Given the description of an element on the screen output the (x, y) to click on. 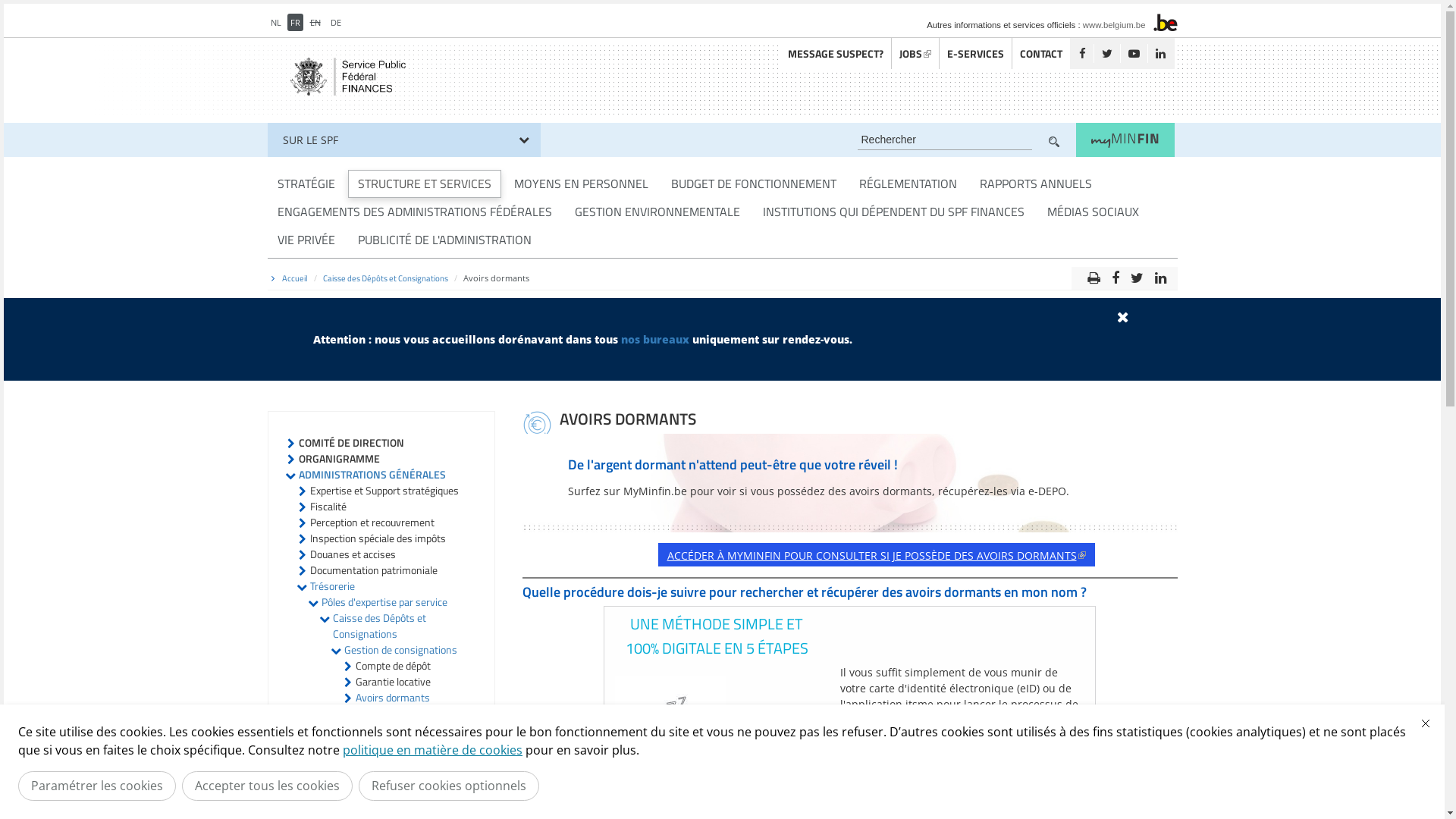
BUDGET DE FONCTIONNEMENT Element type: text (753, 183)
myMINFIN Element type: text (1124, 139)
EN
(PAS ENCORE DISPONIBLE) Element type: text (315, 21)
Douanes et accises Element type: text (352, 553)
CONTACT Element type: text (1040, 53)
Avoirs dormants Element type: text (391, 697)
Aller au contenu principal Element type: text (69, 3)
Documentation patrimoniale Element type: text (372, 569)
Accueil Element type: text (294, 278)
www.belgium.be Element type: text (1113, 24)
YouTube Element type: text (1132, 52)
GESTION ENVIRONNEMENTALE Element type: text (656, 211)
Fermer Element type: hover (1425, 723)
nos bureaux Element type: text (654, 339)
MESSAGE SUSPECT? Element type: text (834, 53)
linkedin Element type: hover (1160, 274)
facebook Element type: hover (1114, 274)
Perception et recouvrement Element type: text (371, 522)
Linkedin Element type: text (1159, 52)
E-SERVICES Element type: text (974, 53)
Gestion de consignations Element type: text (400, 649)
Caution Loi Breyne Element type: text (396, 729)
JOBS
(LINK IS EXTERNAL) Element type: text (914, 53)
Caution jeux de hasard Element type: text (404, 776)
Facebook Element type: text (1081, 52)
FR Element type: text (294, 22)
STRUCTURE ET SERVICES Element type: text (423, 183)
MOYENS EN PERSONNEL Element type: text (580, 183)
SUR LE SPF Element type: text (402, 139)
Garantie locative Element type: text (391, 681)
RAPPORTS ANNUELS Element type: text (1035, 183)
print Element type: hover (1092, 274)
twitter Element type: hover (1136, 274)
Twitter: Element type: text (1106, 52)
ORGANIGRAMME Element type: text (338, 458)
Refuser cookies optionnels Element type: text (448, 785)
Accepter tous les cookies Element type: text (267, 785)
NL Element type: text (274, 22)
Zoek Element type: text (1052, 141)
Caution licence de transport Element type: text (394, 752)
DE Element type: text (335, 22)
